Given the description of an element on the screen output the (x, y) to click on. 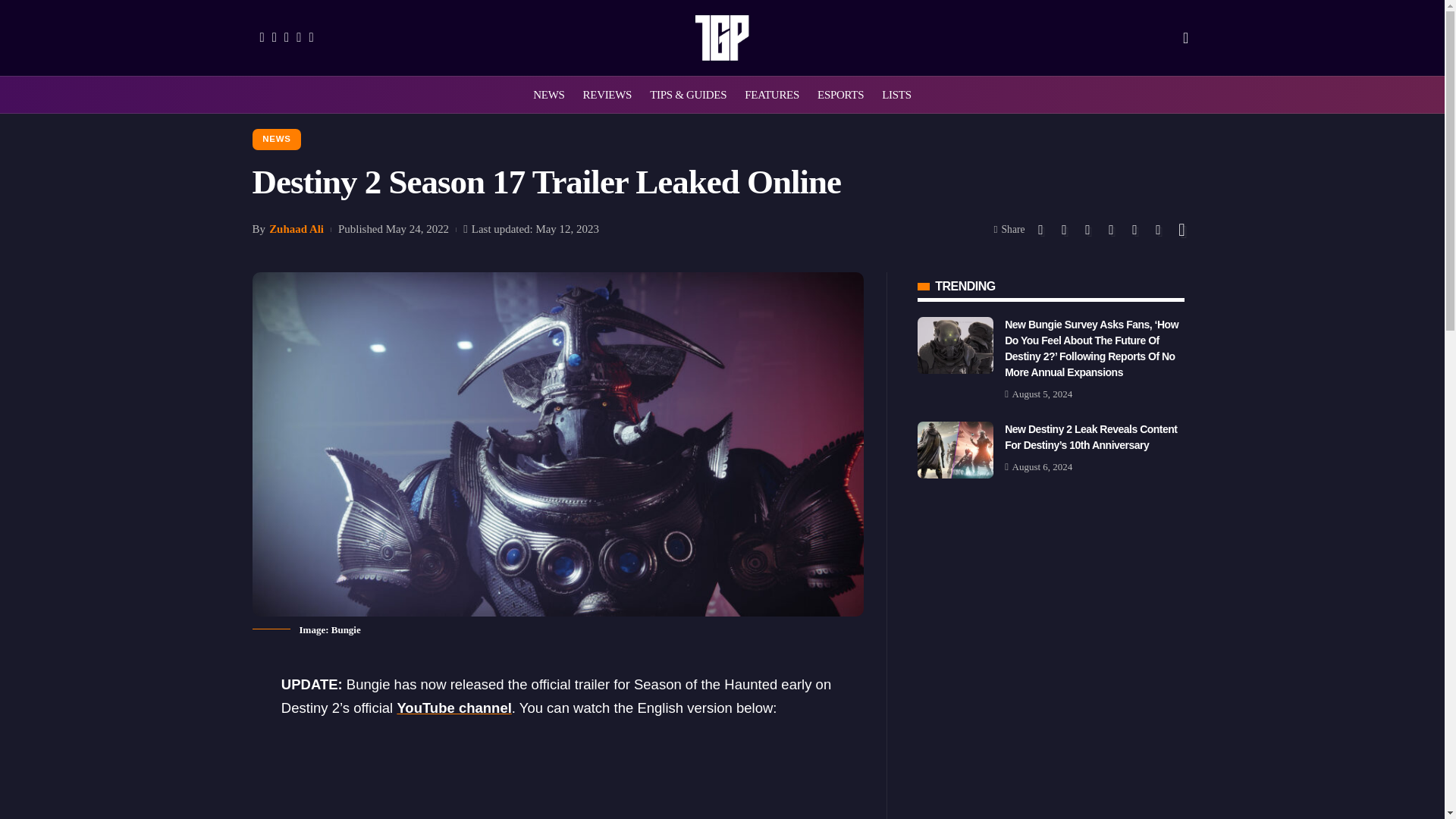
NEWS (548, 94)
ESPORTS (840, 94)
FEATURES (771, 94)
LISTS (896, 94)
REVIEWS (607, 94)
The Game Post (721, 37)
